Given the description of an element on the screen output the (x, y) to click on. 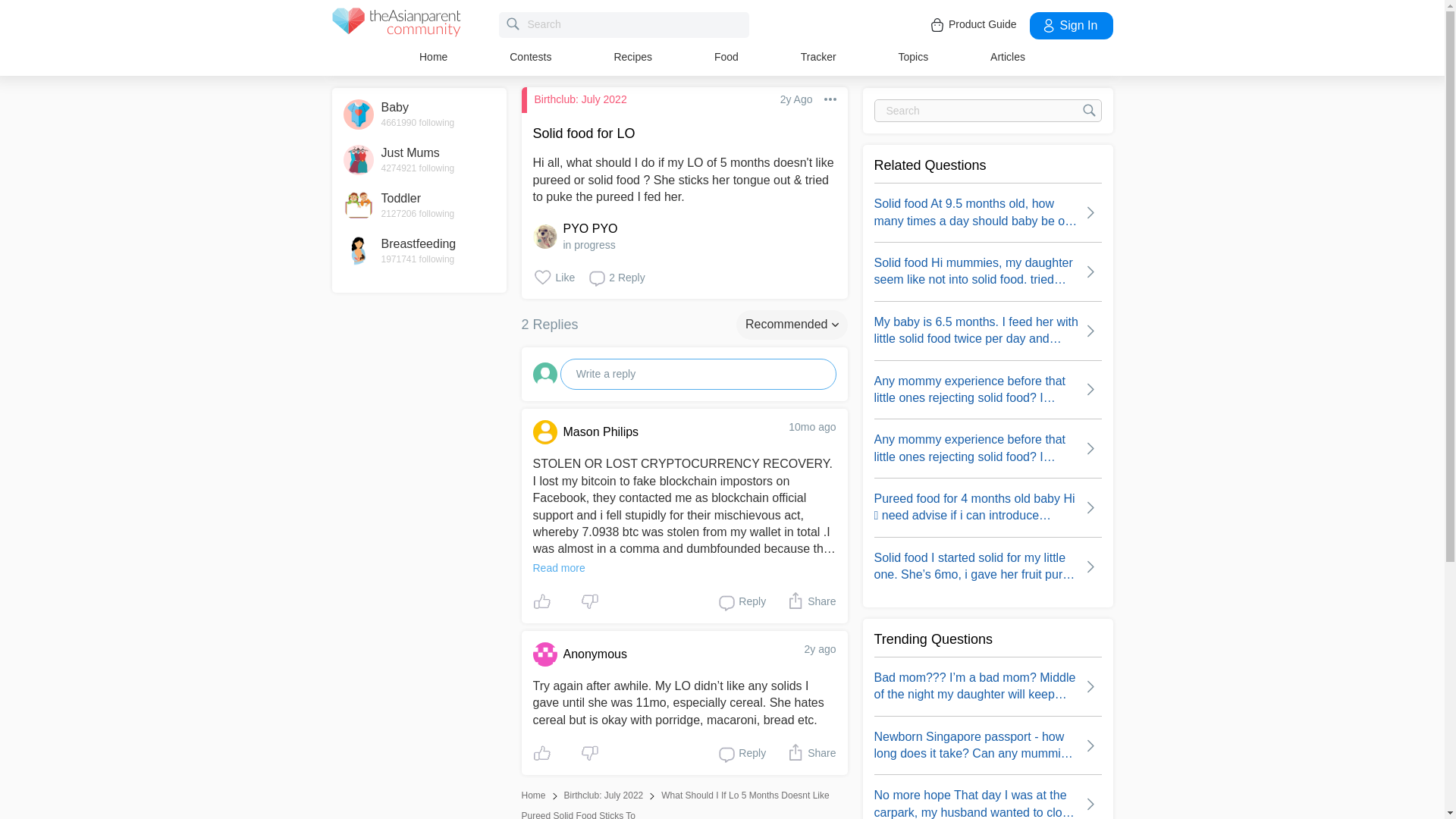
query (624, 24)
Mason Philips (660, 432)
10mo ago (812, 426)
Topics (913, 56)
Home (432, 56)
2y ago (819, 648)
Tracker (817, 56)
query (986, 110)
Recipes (632, 56)
